Given the description of an element on the screen output the (x, y) to click on. 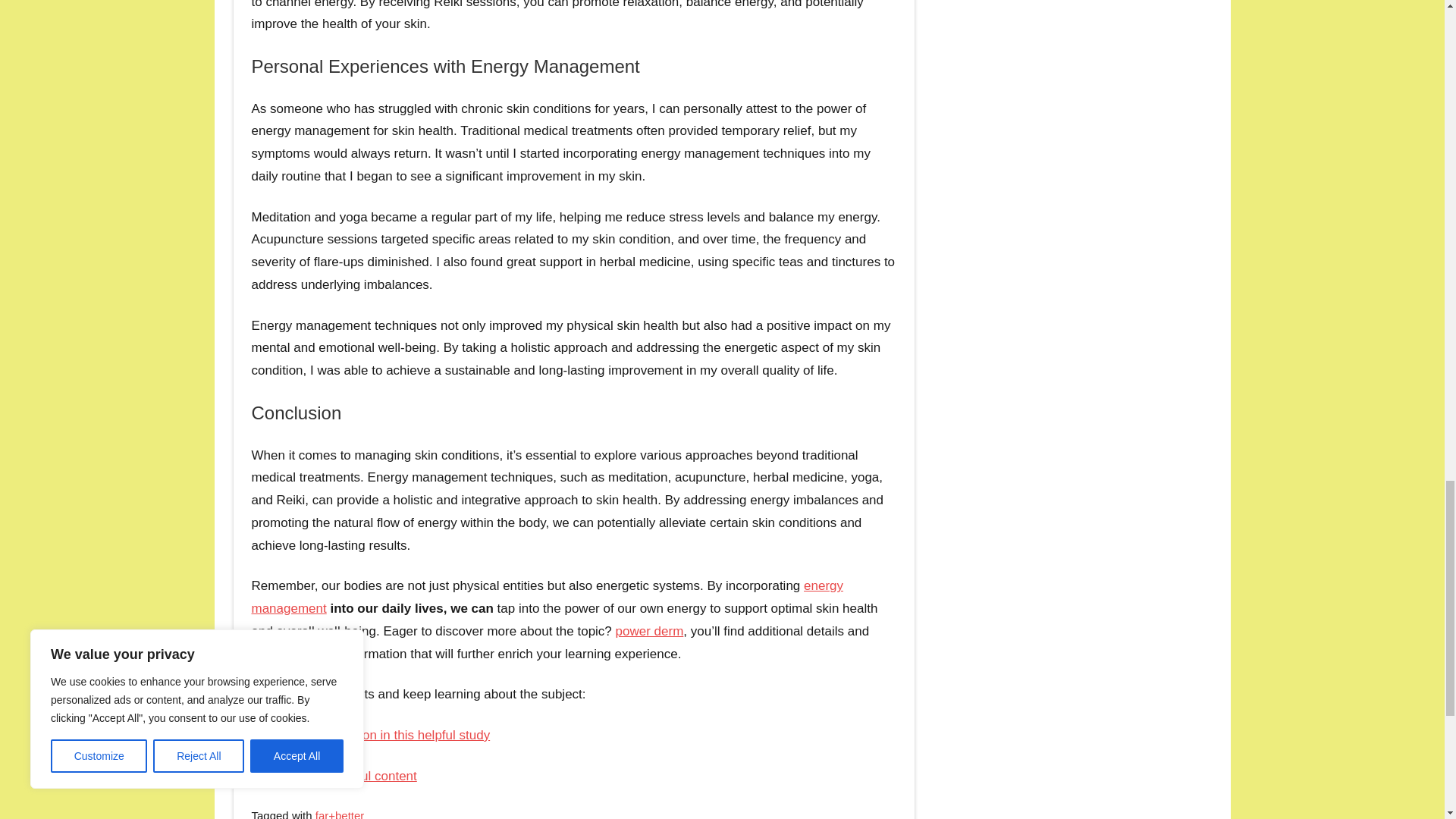
energy management (547, 596)
Check out this useful content (333, 775)
Find more information in this helpful study (370, 735)
power derm (649, 631)
